Given the description of an element on the screen output the (x, y) to click on. 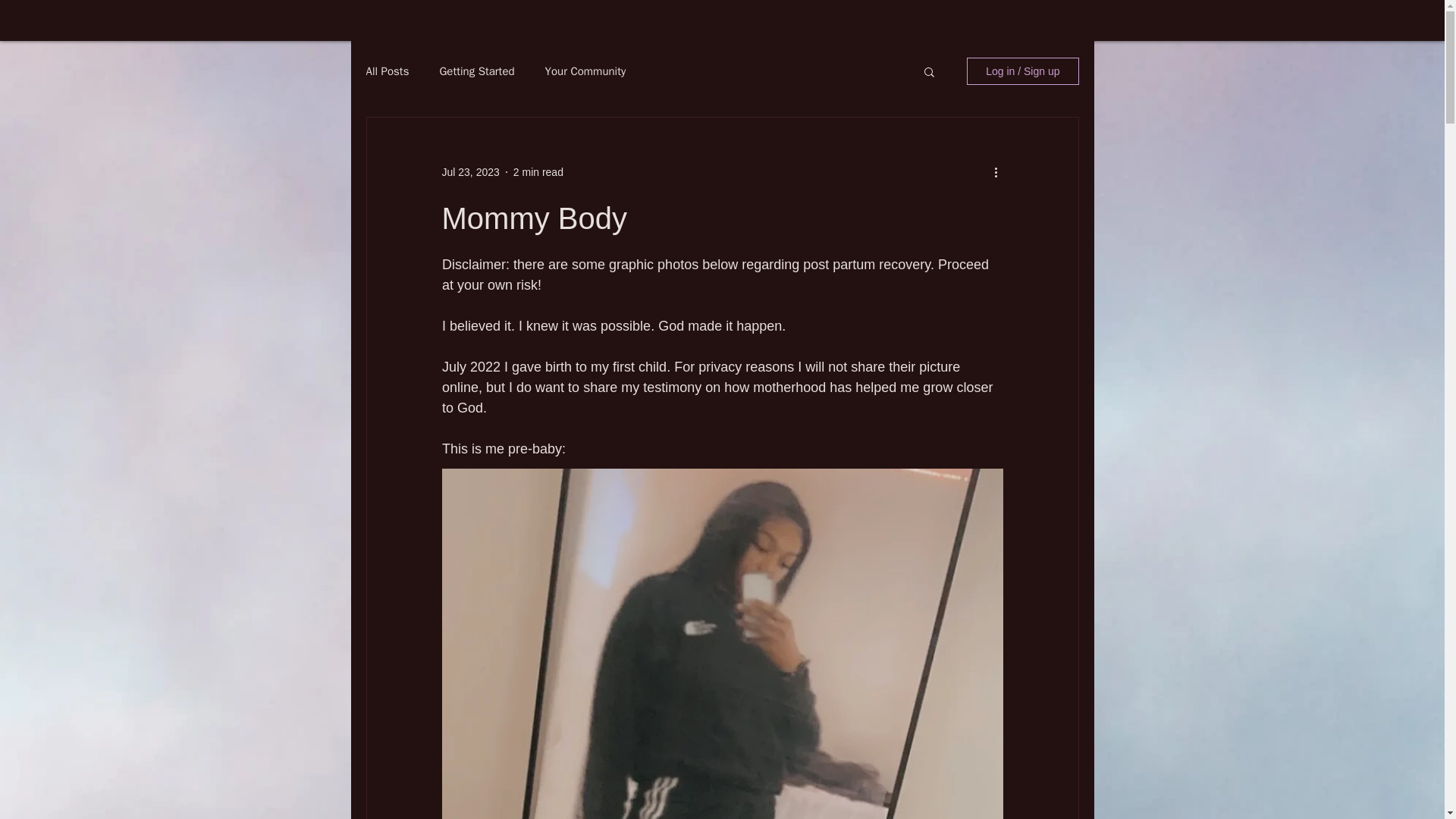
Getting Started (476, 70)
2 min read (538, 171)
All Posts (387, 70)
Jul 23, 2023 (470, 171)
Your Community (585, 70)
